Given the description of an element on the screen output the (x, y) to click on. 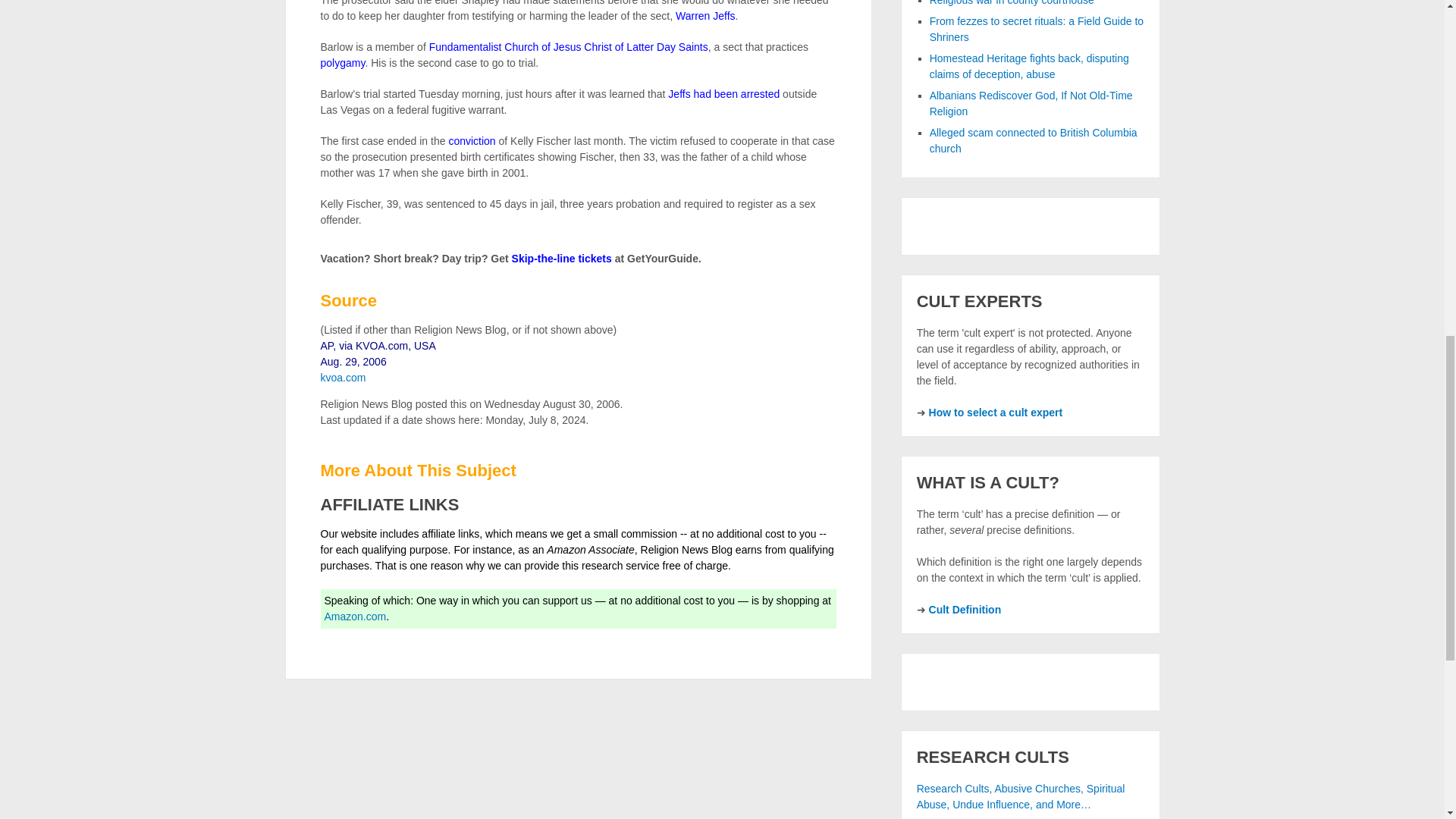
Fundamentalist Church of Jesus Christ of Latter Day Saints (568, 46)
Amazon.com (355, 616)
From fezzes to secret rituals: a Field Guide to Shriners (1036, 29)
Skip-the-line tickets (561, 258)
Alleged scam connected to British Columbia church (1033, 140)
Albanians Rediscover God, If Not Old-Time Religion (1031, 103)
kvoa.com (342, 377)
Jeffs had been arrested (723, 93)
polygamy (342, 62)
Religious war in county courthouse (1012, 2)
